Given the description of an element on the screen output the (x, y) to click on. 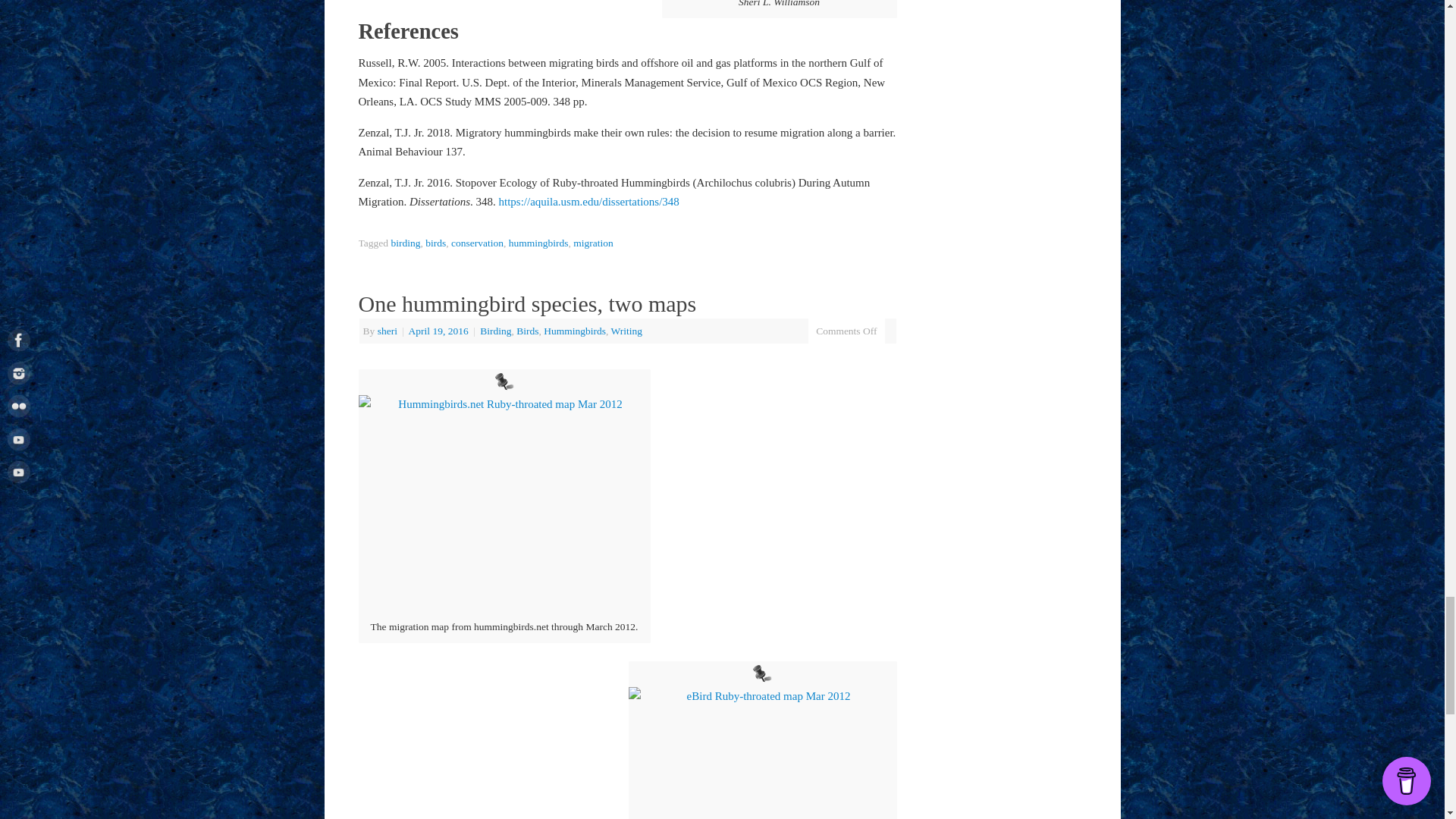
Permalink to One hummingbird species, two maps (526, 303)
